Given the description of an element on the screen output the (x, y) to click on. 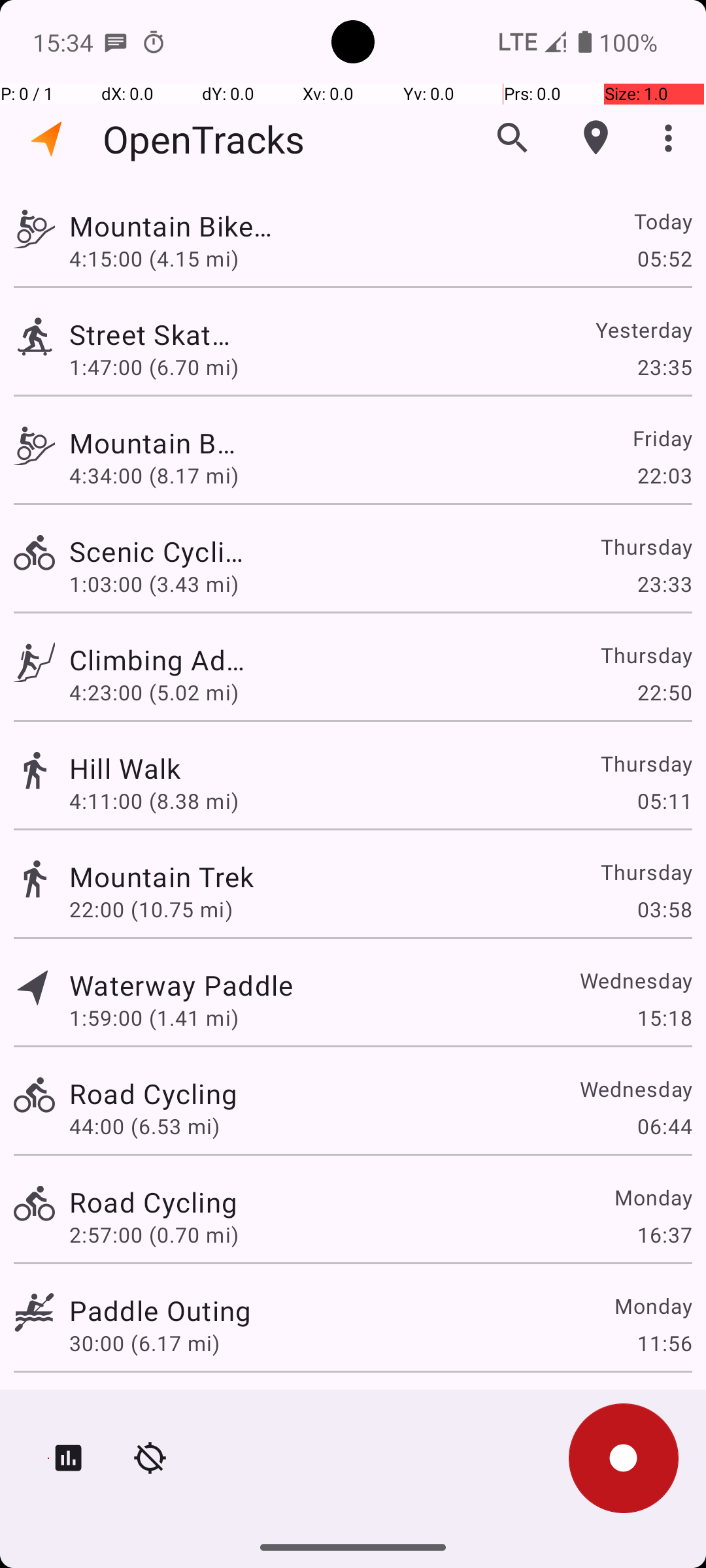
Mountain Bike Expedition Element type: android.widget.TextView (180, 225)
4:15:00 (4.15 mi) Element type: android.widget.TextView (153, 258)
05:52 Element type: android.widget.TextView (664, 258)
Street Skateboarding Element type: android.widget.TextView (152, 333)
1:47:00 (6.70 mi) Element type: android.widget.TextView (153, 366)
23:35 Element type: android.widget.TextView (664, 366)
4:34:00 (8.17 mi) Element type: android.widget.TextView (153, 475)
22:03 Element type: android.widget.TextView (664, 475)
Scenic Cycling Element type: android.widget.TextView (159, 550)
1:03:00 (3.43 mi) Element type: android.widget.TextView (153, 583)
23:33 Element type: android.widget.TextView (664, 583)
Climbing Adventure Element type: android.widget.TextView (162, 659)
4:23:00 (5.02 mi) Element type: android.widget.TextView (159, 692)
22:50 Element type: android.widget.TextView (664, 692)
Hill Walk Element type: android.widget.TextView (124, 767)
4:11:00 (8.38 mi) Element type: android.widget.TextView (153, 800)
05:11 Element type: android.widget.TextView (664, 800)
Mountain Trek Element type: android.widget.TextView (161, 876)
22:00 (10.75 mi) Element type: android.widget.TextView (150, 909)
03:58 Element type: android.widget.TextView (664, 909)
Waterway Paddle Element type: android.widget.TextView (180, 984)
1:59:00 (1.41 mi) Element type: android.widget.TextView (153, 1017)
15:18 Element type: android.widget.TextView (664, 1017)
Road Cycling Element type: android.widget.TextView (152, 1092)
44:00 (6.53 mi) Element type: android.widget.TextView (144, 1125)
06:44 Element type: android.widget.TextView (664, 1125)
2:57:00 (0.70 mi) Element type: android.widget.TextView (153, 1234)
16:37 Element type: android.widget.TextView (664, 1234)
Paddle Outing Element type: android.widget.TextView (159, 1309)
30:00 (6.17 mi) Element type: android.widget.TextView (144, 1342)
11:56 Element type: android.widget.TextView (664, 1342)
Bike Commute Element type: android.widget.TextView (162, 1408)
